Given the description of an element on the screen output the (x, y) to click on. 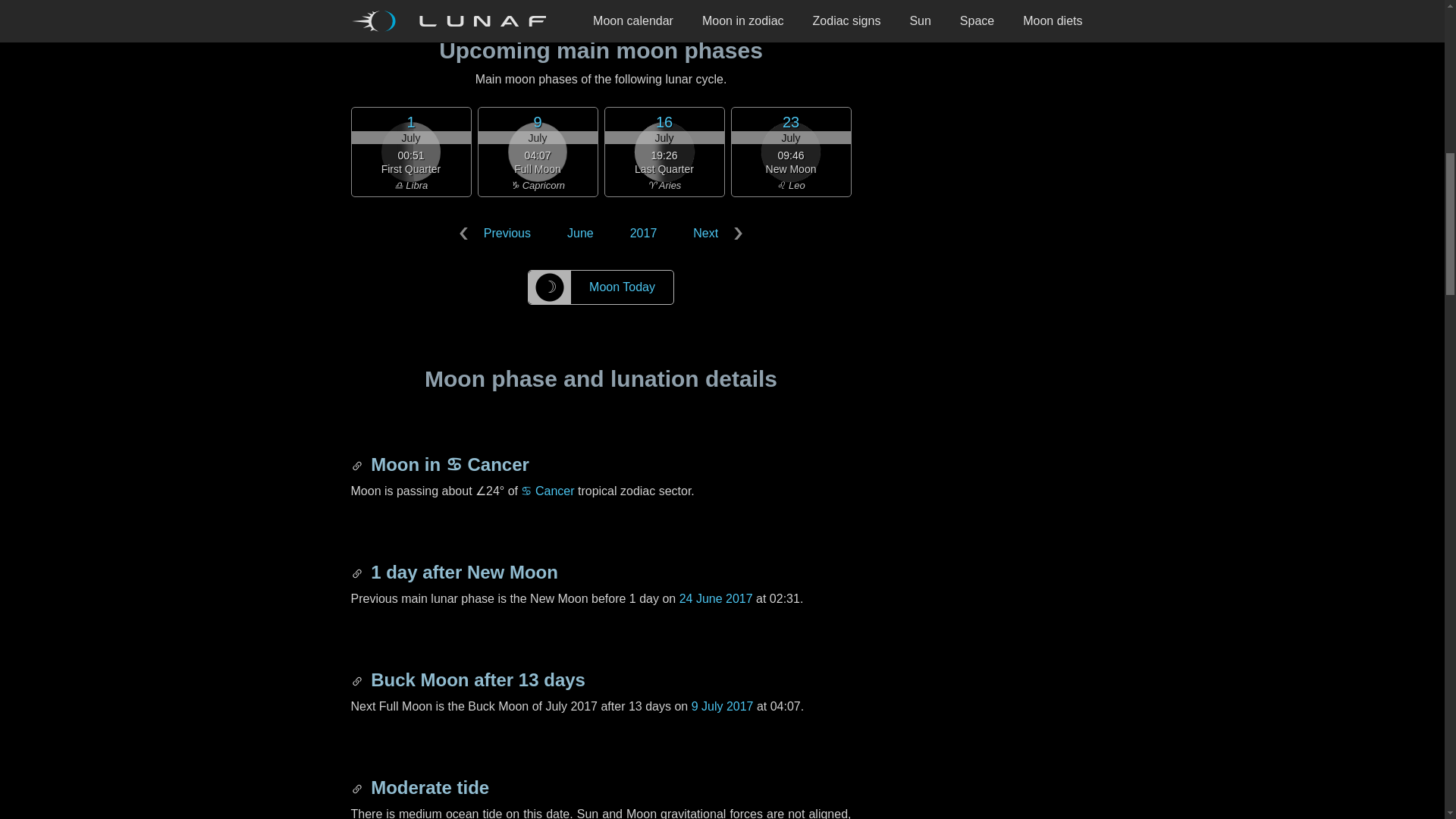
June (579, 233)
Next (714, 233)
Previous (497, 233)
9 July 2017 (722, 706)
2017 (643, 233)
24 June 2017 (715, 598)
